Given the description of an element on the screen output the (x, y) to click on. 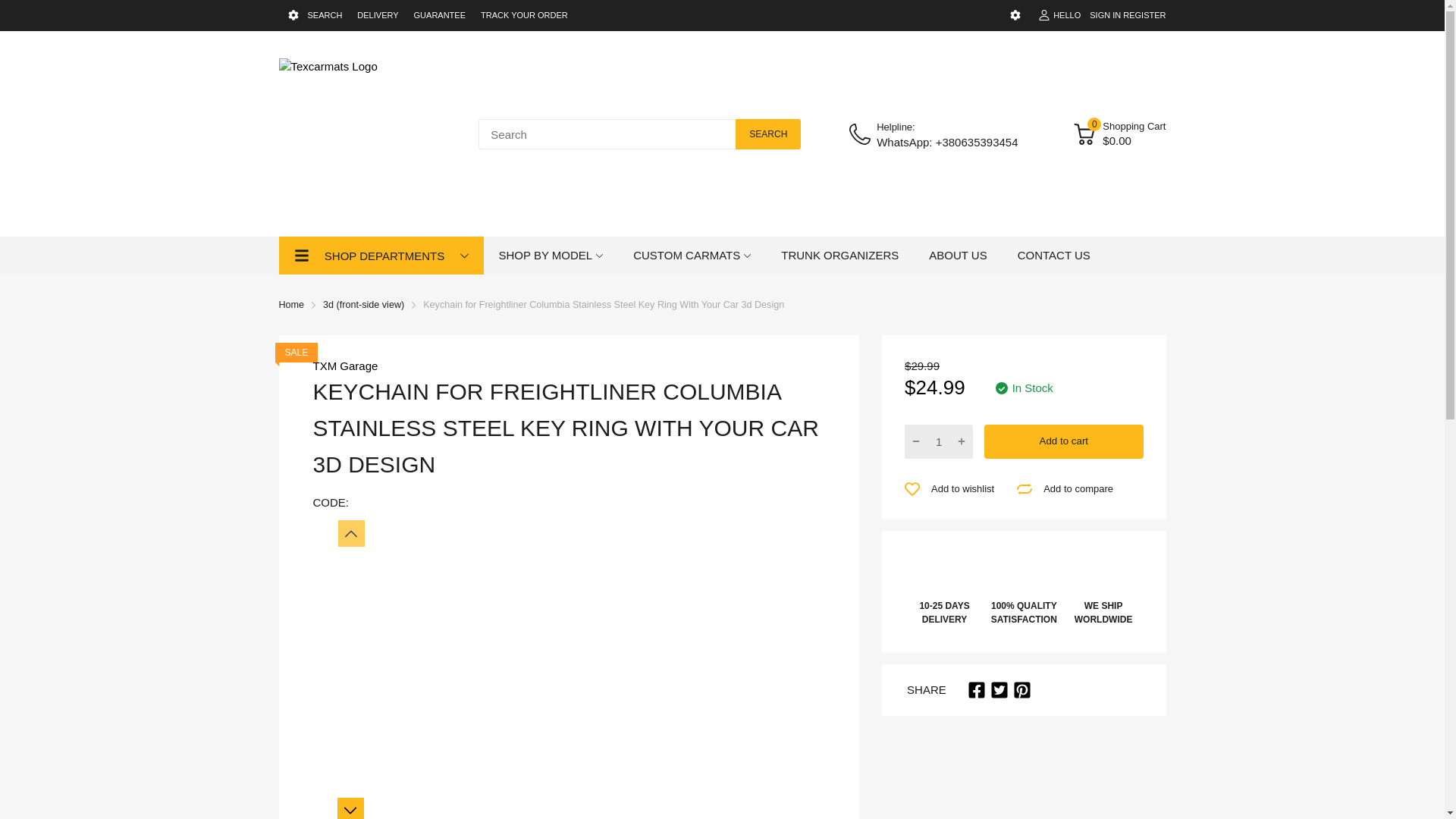
TXM Garage (345, 365)
Facebook (976, 689)
CUSTOM CARMATS (686, 255)
GUARANTEE (439, 14)
ABOUT US (957, 255)
HELLO (1059, 15)
SHOP BY MODEL (545, 255)
TRACK YOUR ORDER (523, 14)
Add to cart (1063, 441)
REGISTER (1144, 14)
Twitter (999, 689)
0 (1084, 133)
SEARCH (767, 133)
SEARCH (324, 14)
